Given the description of an element on the screen output the (x, y) to click on. 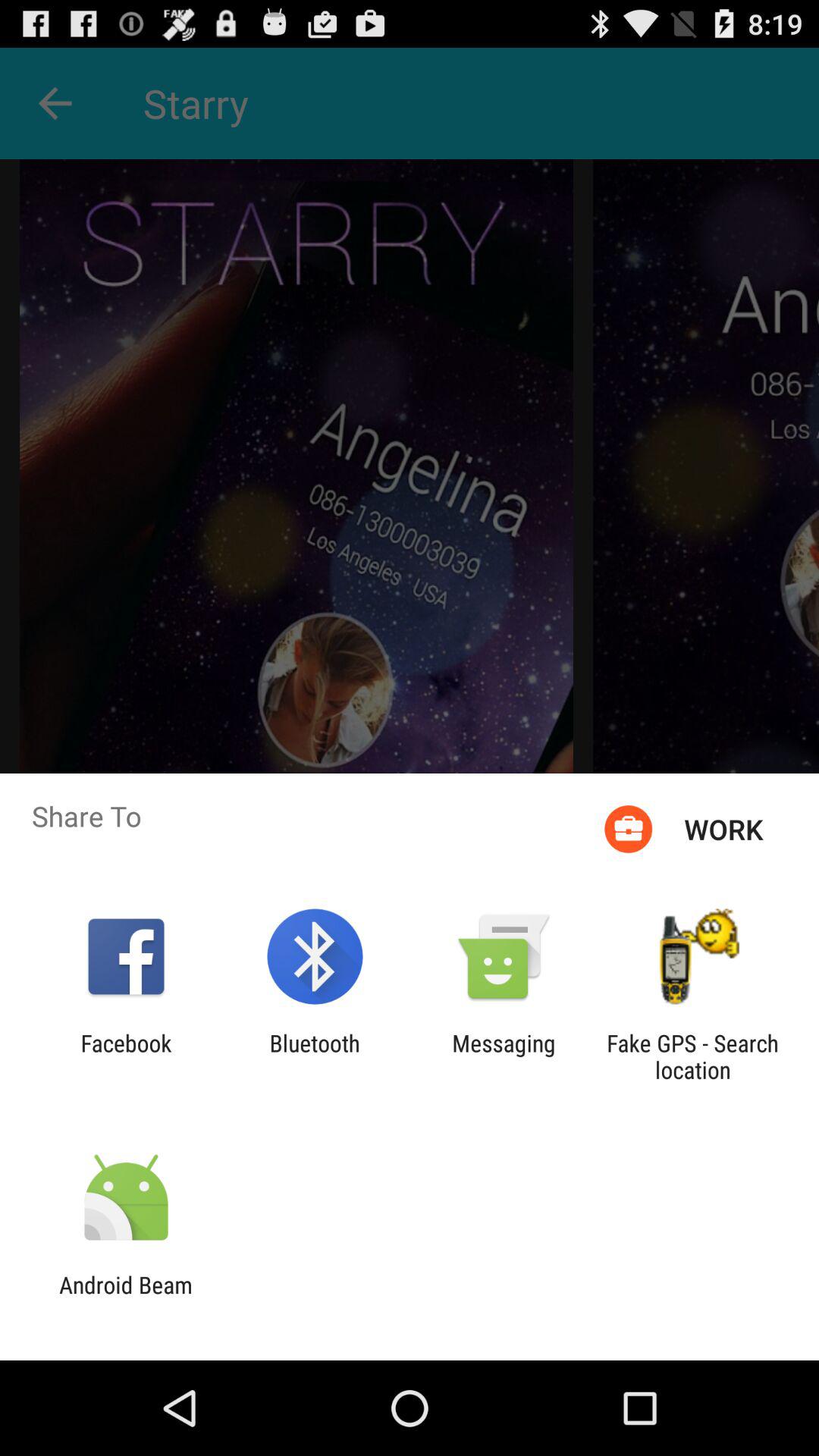
turn on app next to the facebook item (314, 1056)
